Given the description of an element on the screen output the (x, y) to click on. 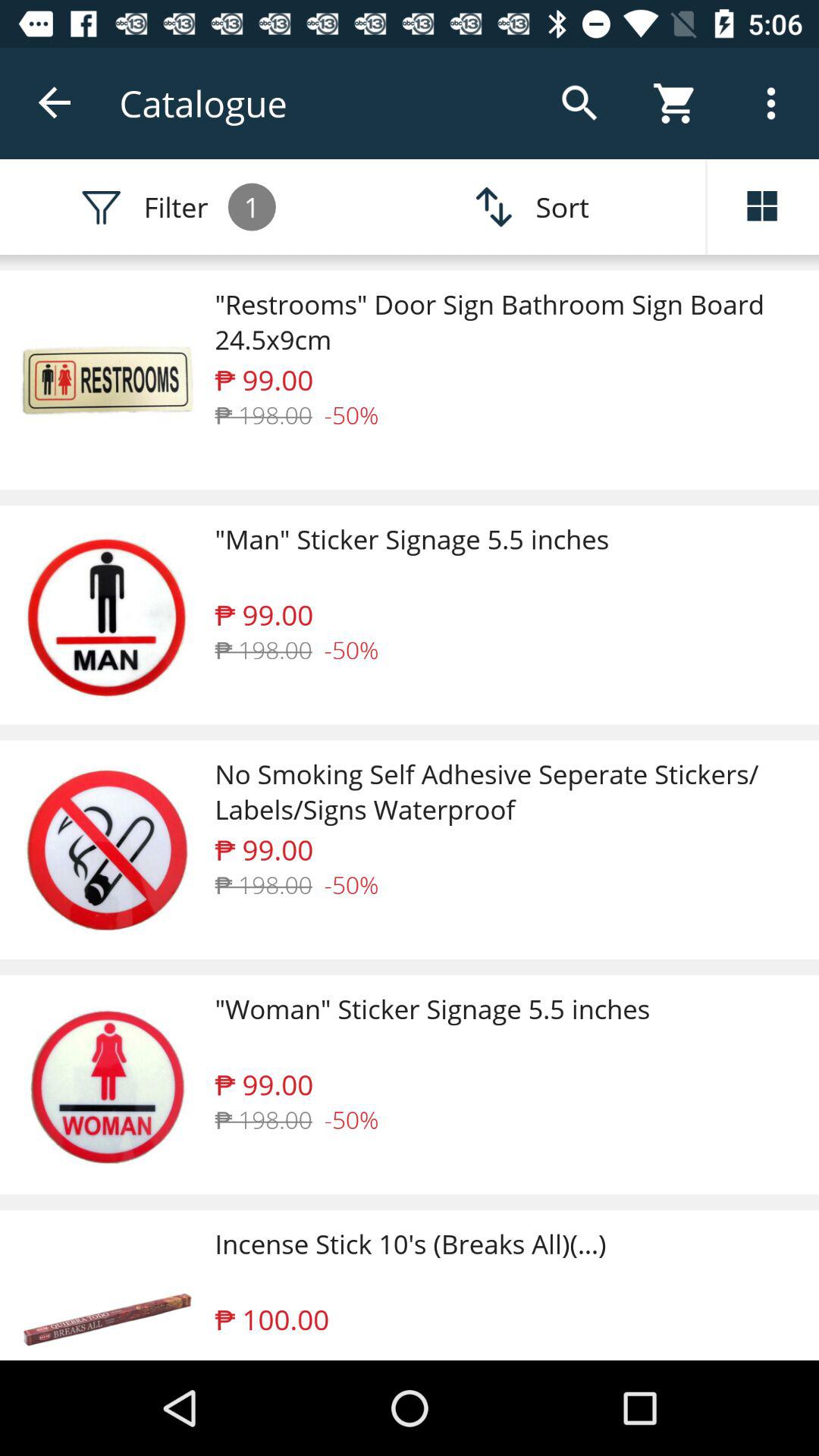
tap the item above filter (55, 103)
